Given the description of an element on the screen output the (x, y) to click on. 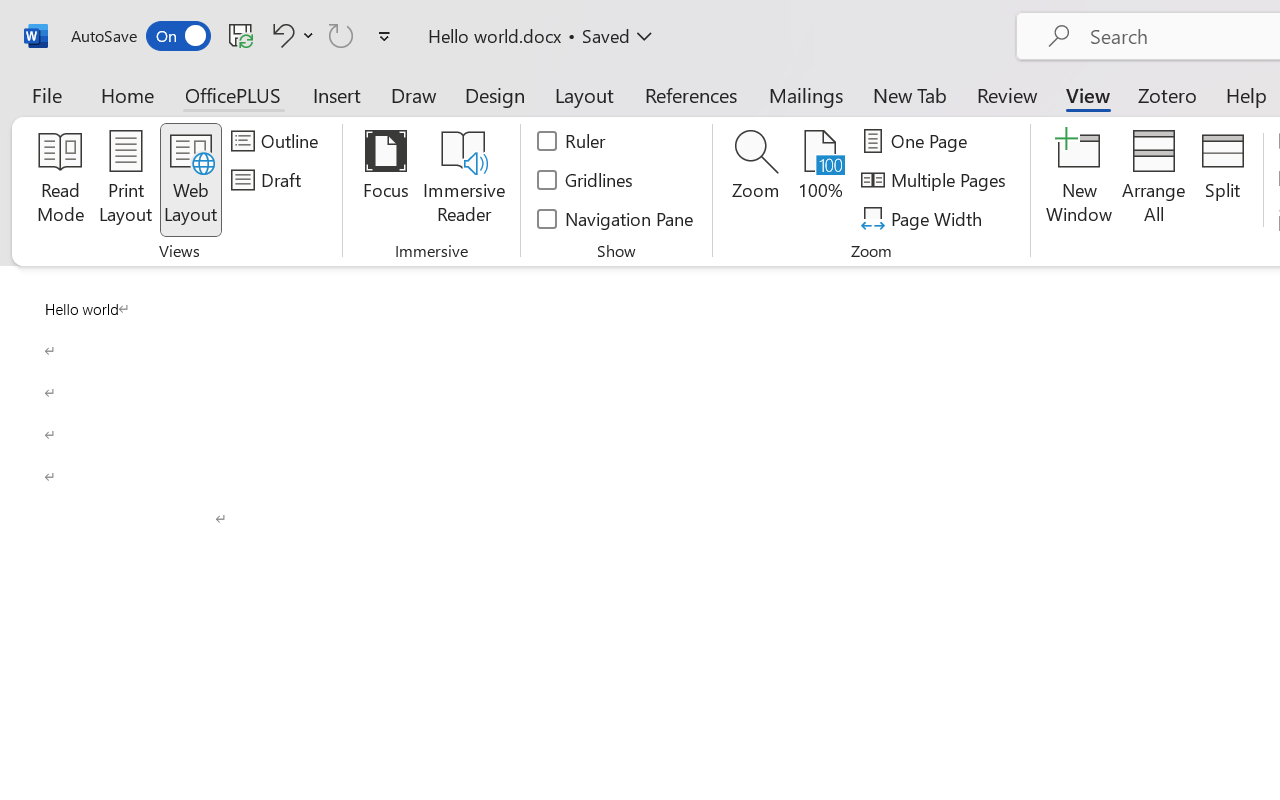
Draw (413, 94)
Quick Access Toolbar (233, 36)
Focus (385, 179)
Zoom... (755, 179)
OfficePLUS (233, 94)
Undo Paragraph Formatting (280, 35)
Review (1007, 94)
View (1087, 94)
Home (127, 94)
New Tab (909, 94)
Draft (269, 179)
